Given the description of an element on the screen output the (x, y) to click on. 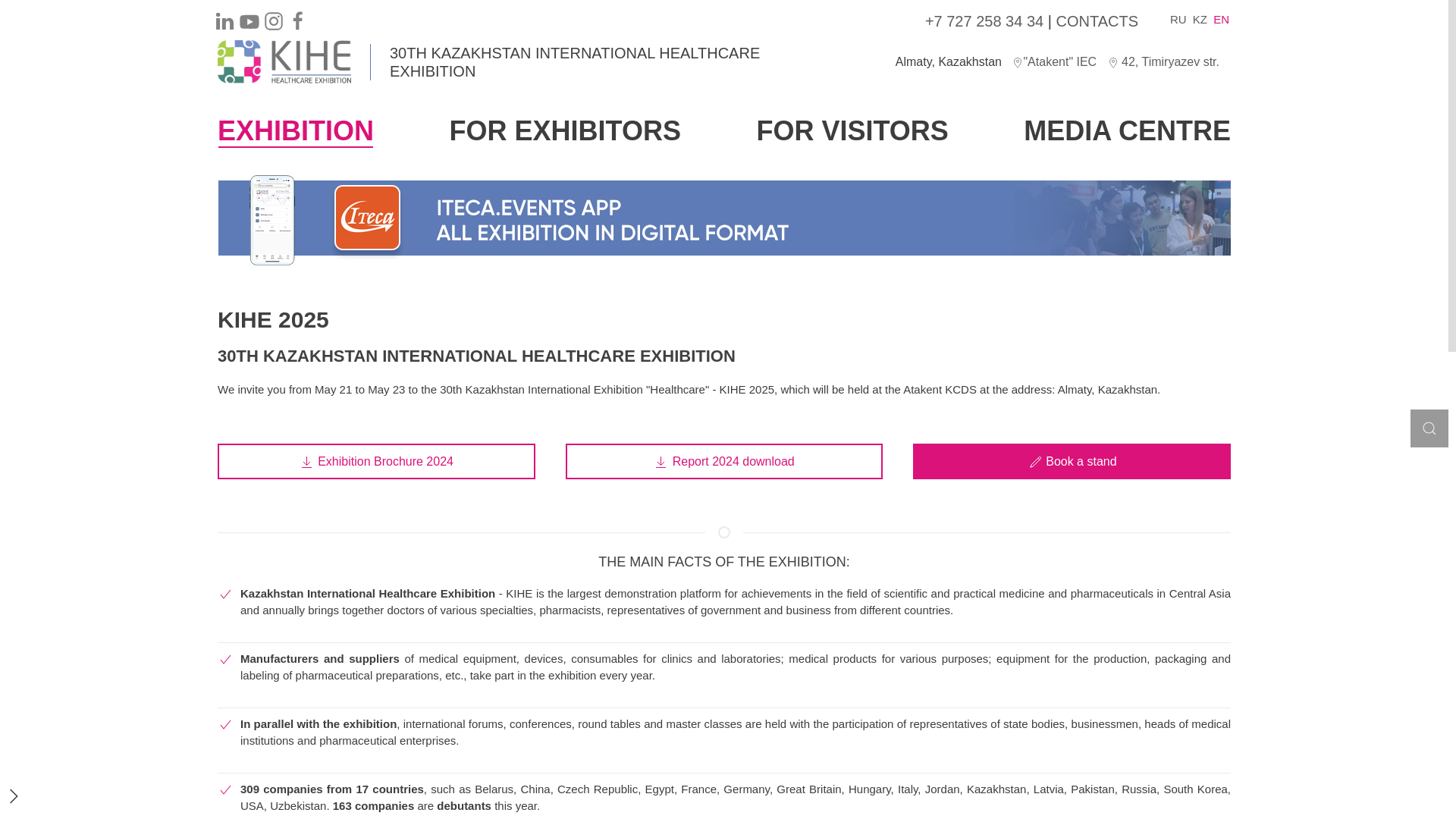
EN (1220, 19)
"Atakent" IEC (1055, 61)
RU (1178, 19)
CONTACTS (1096, 21)
EXHIBITION (295, 130)
42, Timiryazev str. (1164, 61)
